Given the description of an element on the screen output the (x, y) to click on. 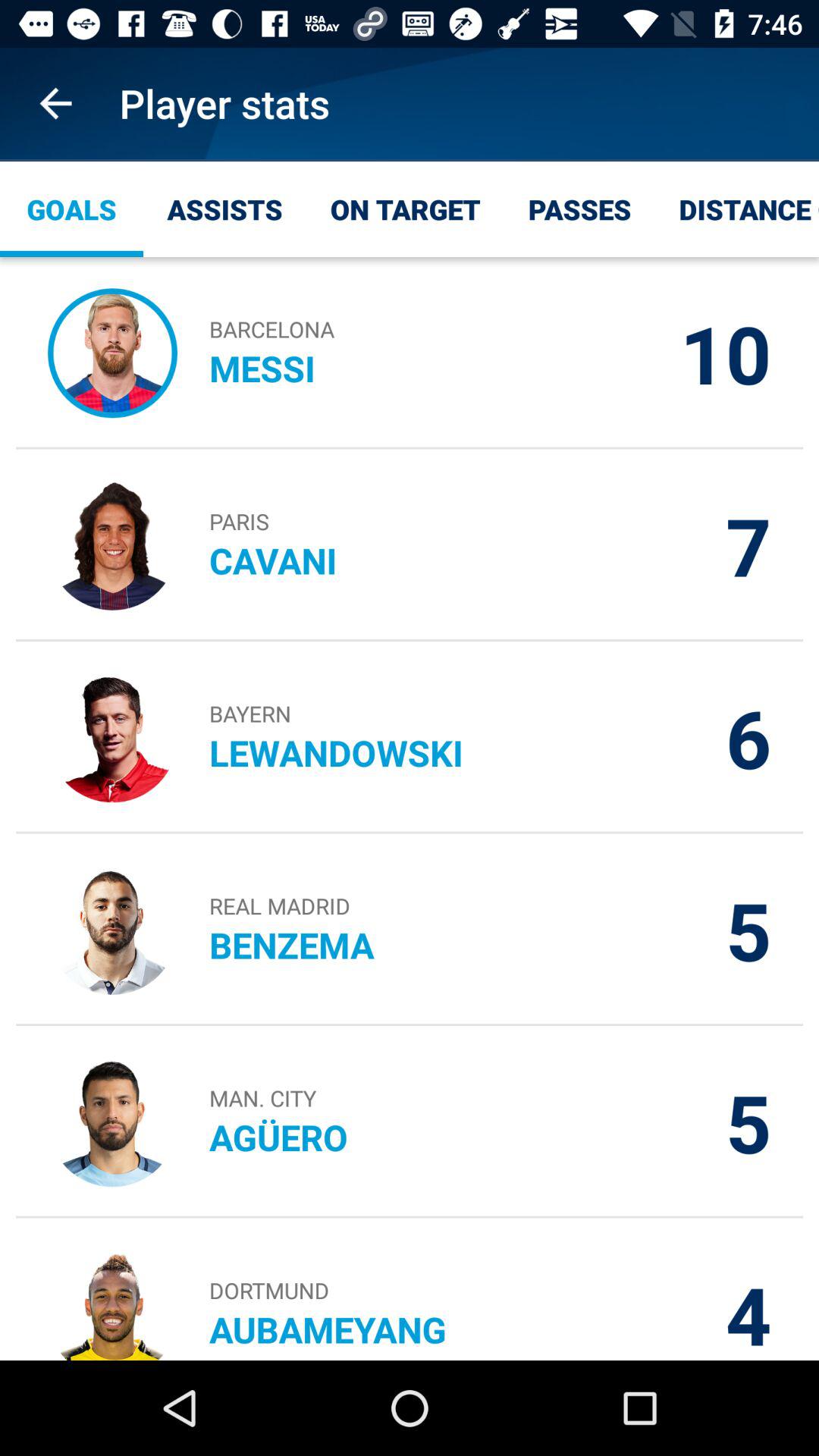
turn off icon next to player stats app (55, 103)
